Given the description of an element on the screen output the (x, y) to click on. 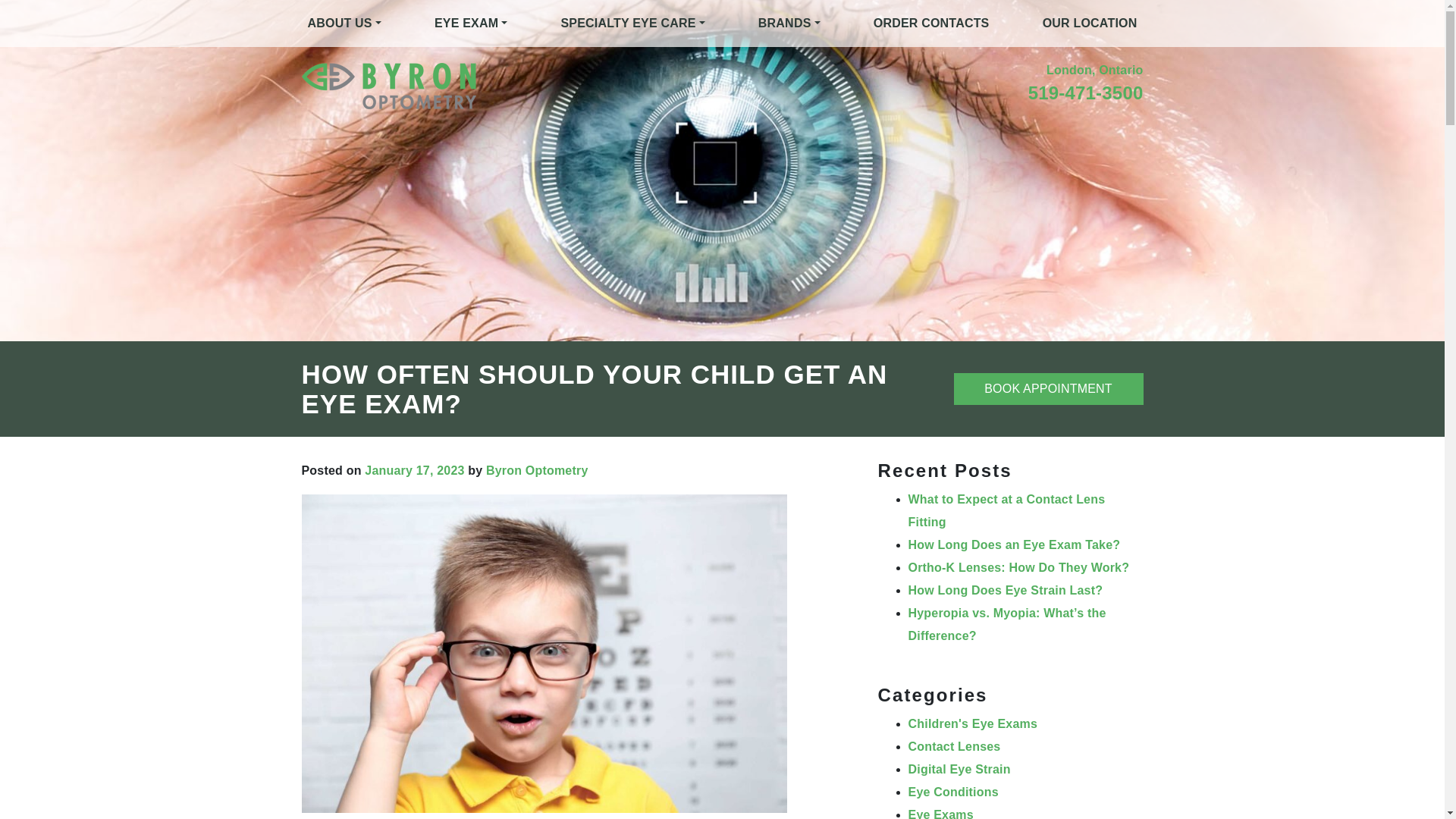
ORDER CONTACTS (931, 22)
Specialty Eye Care (632, 22)
Order Contacts (931, 22)
SPECIALTY EYE CARE (632, 22)
OUR LOCATION (1089, 22)
Eye Exam (470, 22)
EYE EXAM (470, 22)
Brands (789, 22)
Byron Optometry (537, 470)
January 17, 2023 (414, 470)
